Given the description of an element on the screen output the (x, y) to click on. 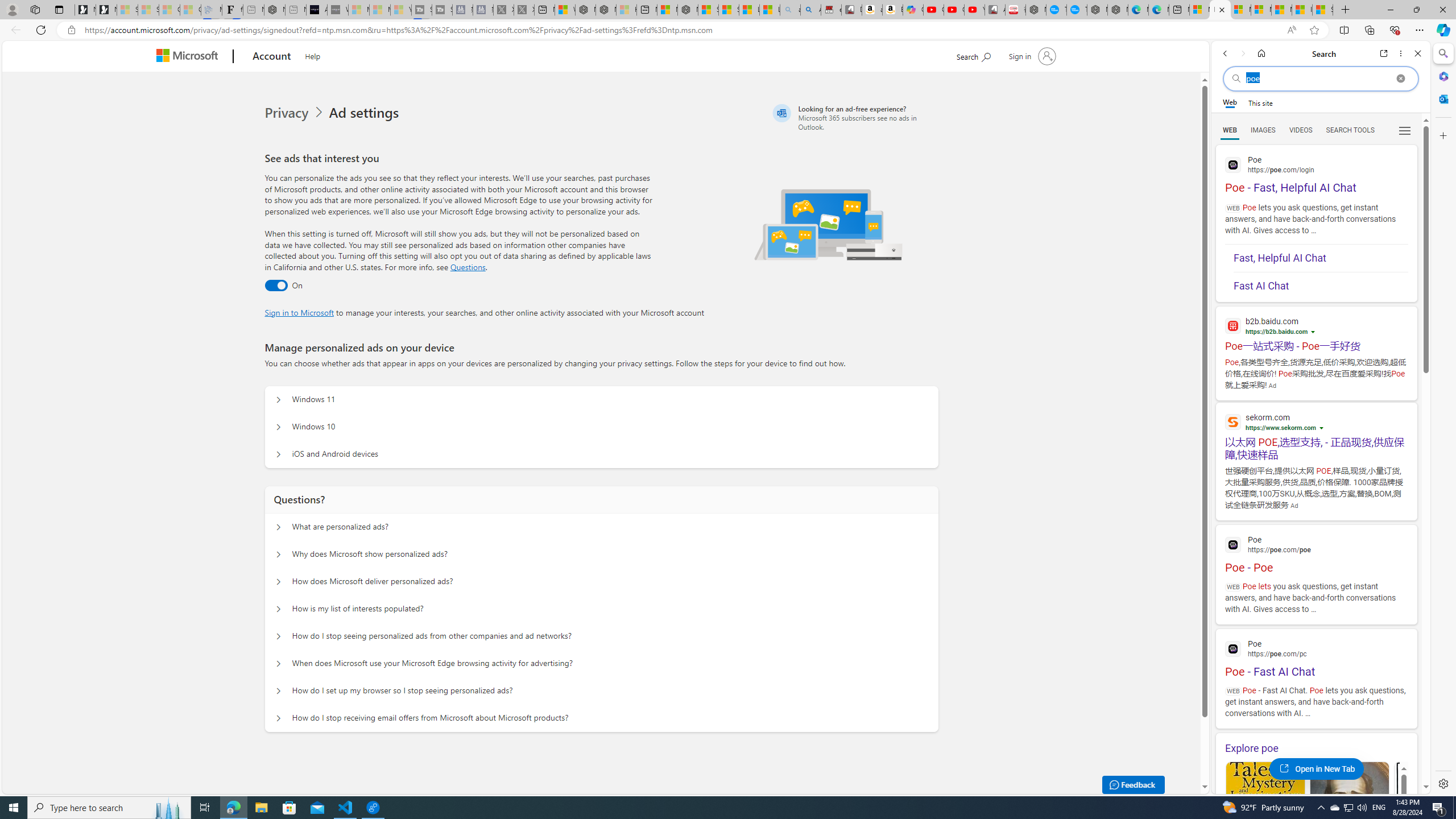
This site scope (1259, 102)
Open link in new tab (1383, 53)
Explore poe (1315, 748)
WEB   (1230, 130)
Streaming Coverage | T3 - Sleeping (421, 9)
Help (312, 54)
YouTube Kids - An App Created for Kids to Explore Content (974, 9)
Global web icon (1232, 648)
amazon - Search - Sleeping (789, 9)
Poe - Poe (1315, 552)
